Given the description of an element on the screen output the (x, y) to click on. 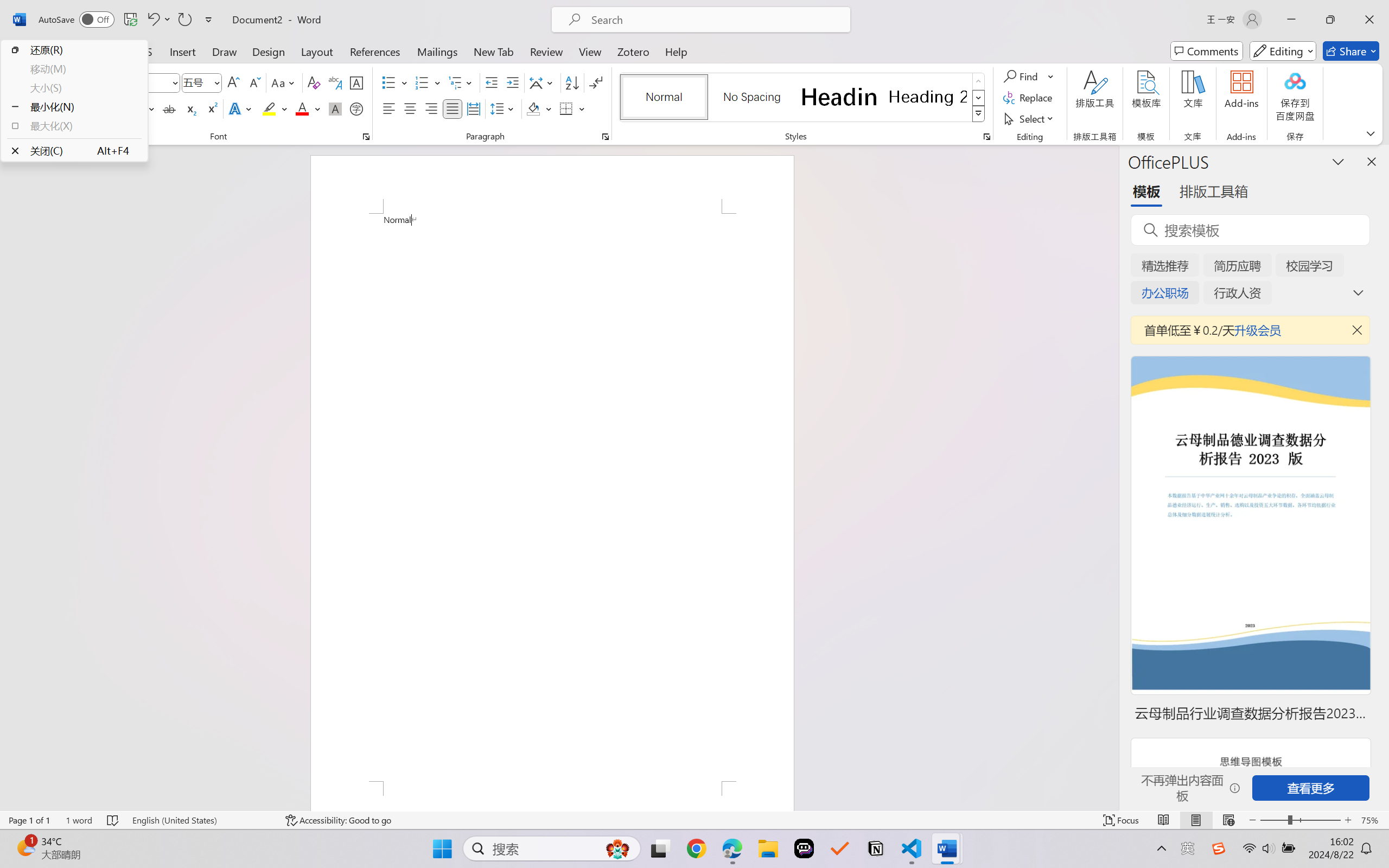
Increase Indent (512, 82)
Accessibility Checker Accessibility: Good to go (338, 819)
Multilevel List (461, 82)
Numbering (428, 82)
Phonetic Guide... (334, 82)
Bullets (388, 82)
Row up (978, 81)
Heading 2 (927, 96)
Grow Font (233, 82)
Line and Paragraph Spacing (503, 108)
Font (126, 82)
Zotero (632, 51)
